Given the description of an element on the screen output the (x, y) to click on. 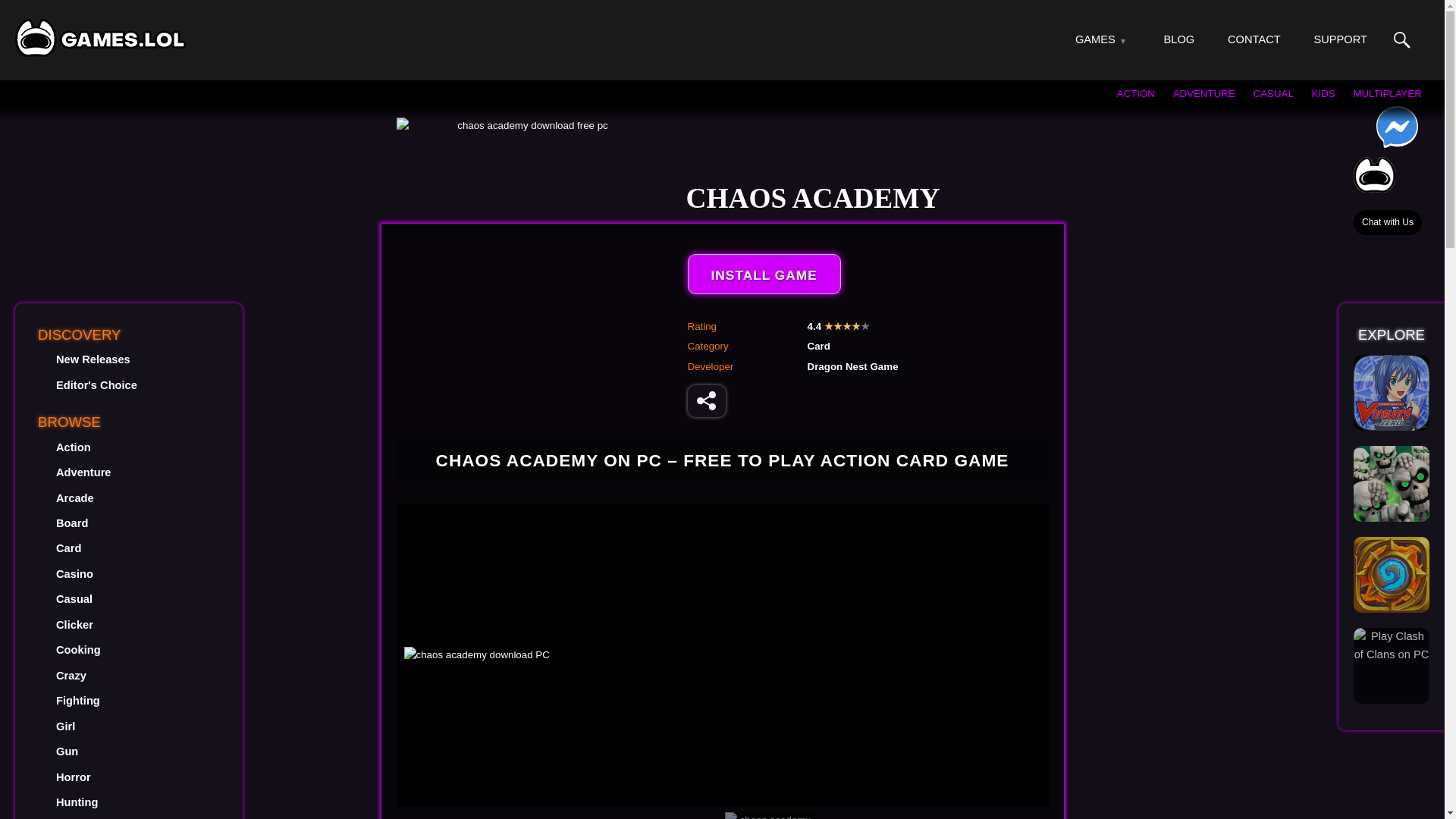
CONTACT (1254, 39)
ACTION (1135, 93)
ADVENTURE (1203, 93)
GAMES (1095, 39)
Games.lol free game download website logo (100, 37)
Play Hearthstone on PC (1391, 574)
Play Clash of Clans on PC (1391, 645)
Action (73, 447)
CASUAL (1273, 93)
MULTIPLAYER (1387, 93)
Adventure (83, 472)
SUPPORT (1340, 39)
Editor's Choice (96, 385)
New Releases (93, 358)
Play Vanguard ZERO on PC (1391, 392)
